Given the description of an element on the screen output the (x, y) to click on. 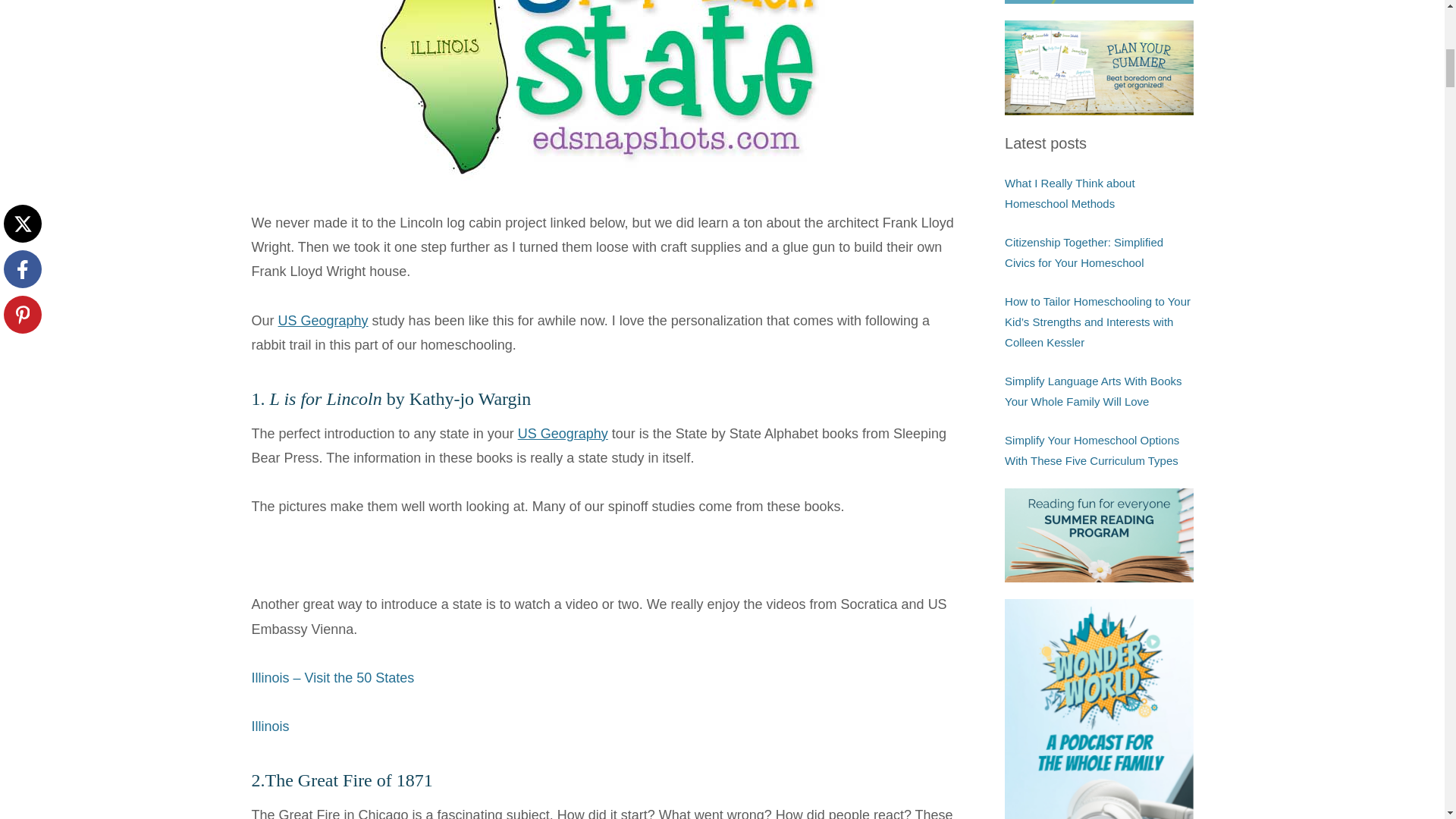
US Geography (323, 320)
Illinois (270, 726)
8 For Each State: US Geography (323, 320)
US Geography (563, 433)
Illinois - Visit the 50 States (332, 677)
Illinois (270, 726)
L is for Lincoln by Kathy-jo Wargin (400, 398)
The Great Fire of 1871 (348, 780)
